Given the description of an element on the screen output the (x, y) to click on. 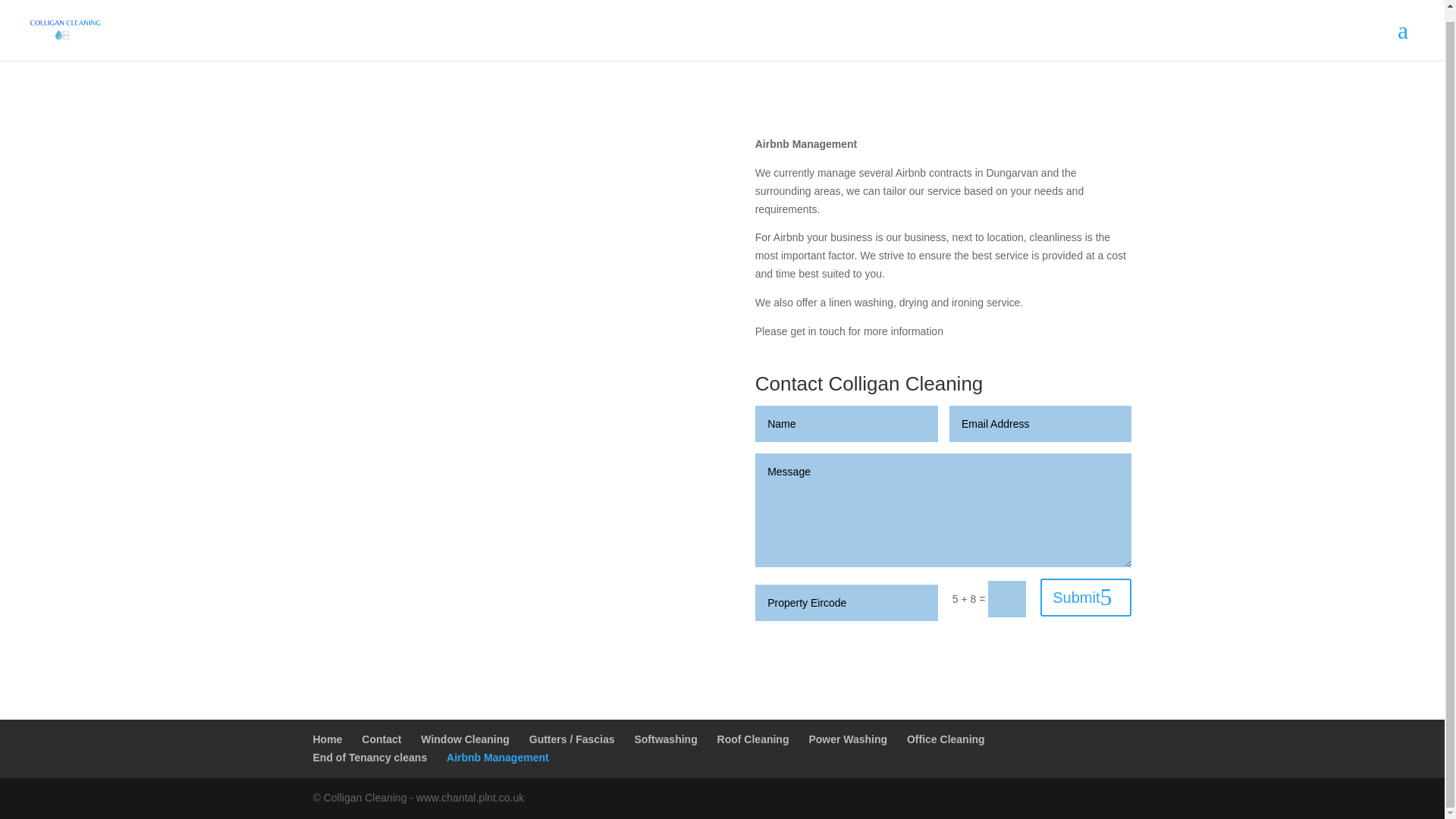
Power Washing (847, 739)
Home (327, 739)
Airbnb Management (497, 757)
Submit (1086, 597)
Roof Cleaning (753, 739)
Window Cleaning (464, 739)
Softwashing (665, 739)
Contact (381, 739)
End of Tenancy cleans (369, 757)
Office Cleaning (946, 739)
